Given the description of an element on the screen output the (x, y) to click on. 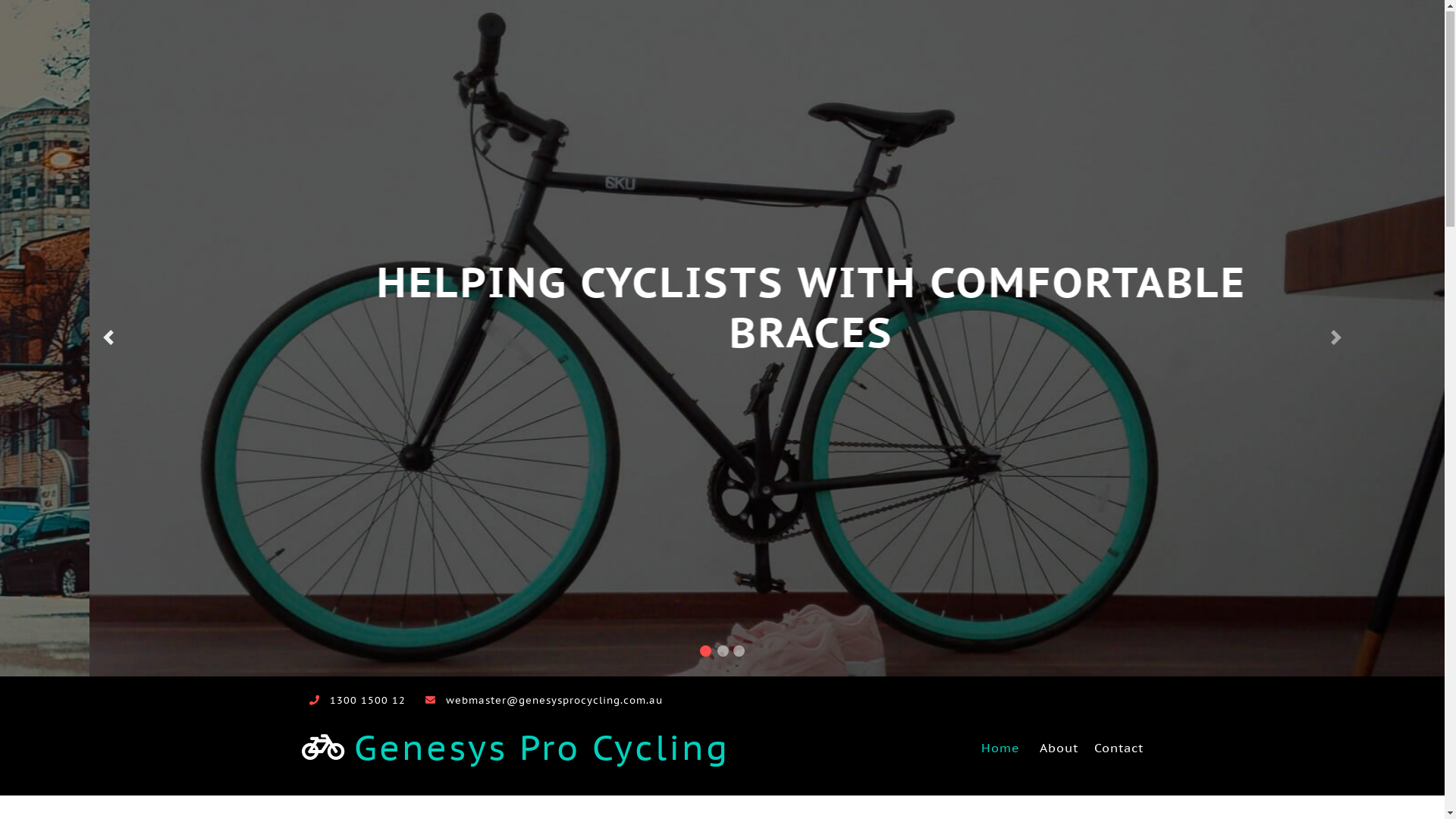
Next Element type: text (1335, 338)
Contact Element type: text (1114, 748)
Previous Element type: text (108, 338)
webmaster@genesysprocycling.com.au Element type: text (553, 700)
Home
(current) Element type: text (1000, 748)
About Element type: text (1057, 748)
Genesys Pro Cycling Element type: text (515, 748)
